Given the description of an element on the screen output the (x, y) to click on. 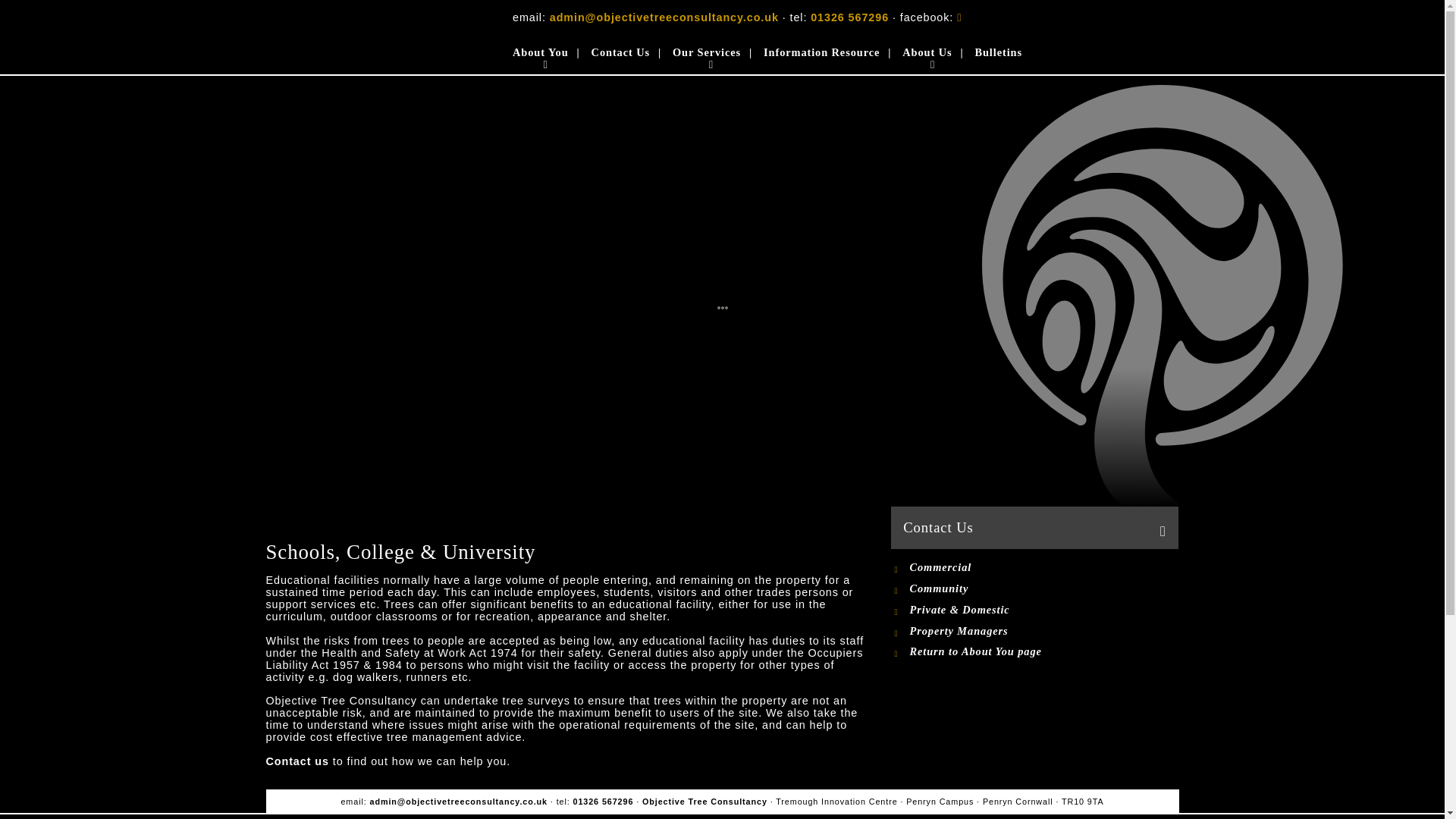
01326 567296 (603, 800)
Commercial (949, 567)
Community (949, 588)
Email Us (458, 800)
Contact us (296, 761)
Objective Tree Consultancy (382, 36)
Property Managers (949, 631)
About Us (927, 55)
Return to About You page (965, 651)
Contact Us (620, 55)
About You (540, 55)
01326 567296 (849, 16)
Our Services (706, 55)
Call Us (849, 16)
Call Us (603, 800)
